Given the description of an element on the screen output the (x, y) to click on. 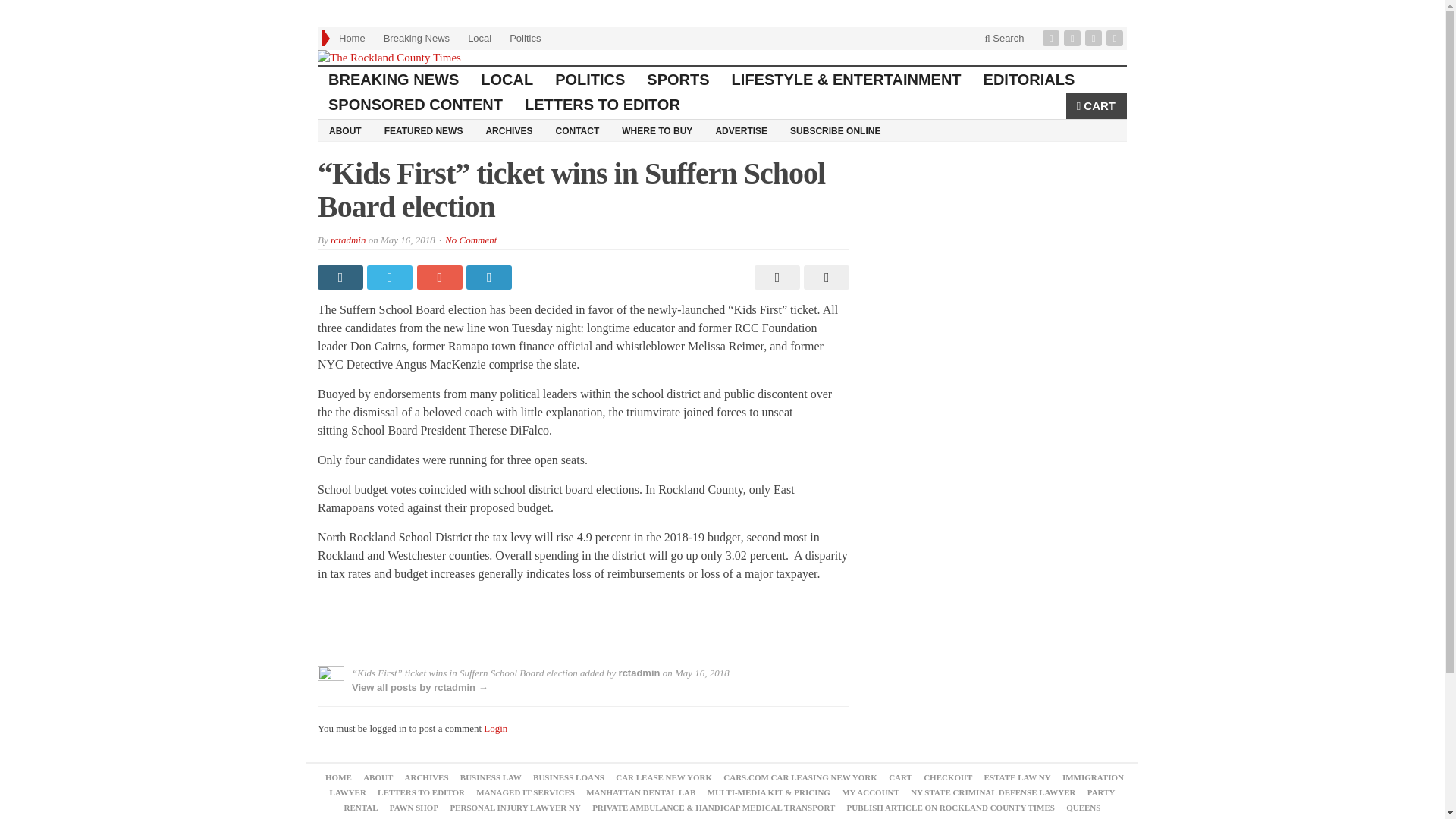
Send by Email (823, 277)
SUBSCRIBE ONLINE (834, 129)
Search (1003, 37)
rctadmin (639, 672)
Login (494, 727)
Print This Post (775, 277)
EDITORIALS (1029, 79)
Share on Facebook (341, 277)
Twitter (1073, 37)
rctadmin (347, 239)
